Given the description of an element on the screen output the (x, y) to click on. 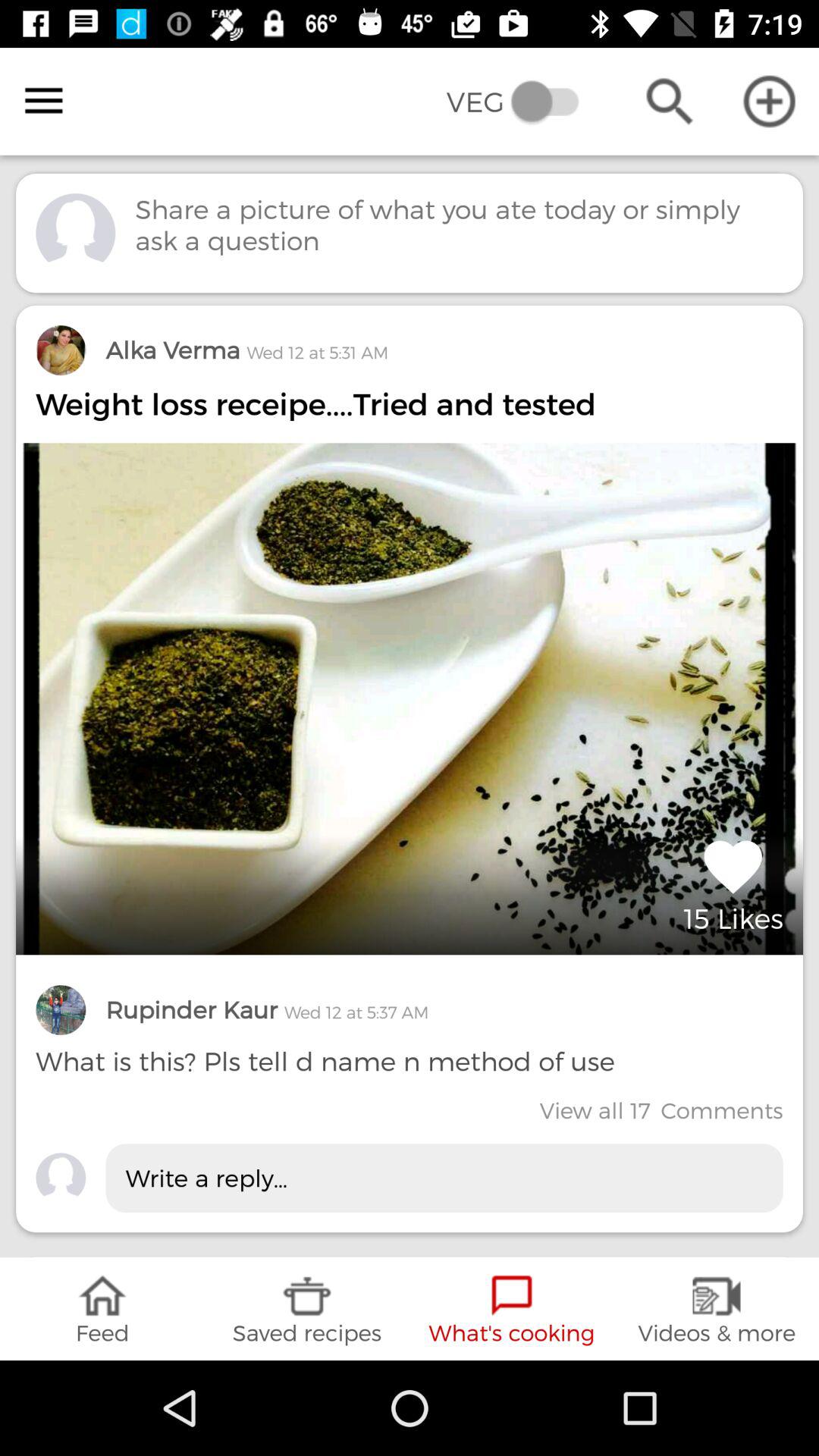
turn on item below the share a picture icon (246, 349)
